Given the description of an element on the screen output the (x, y) to click on. 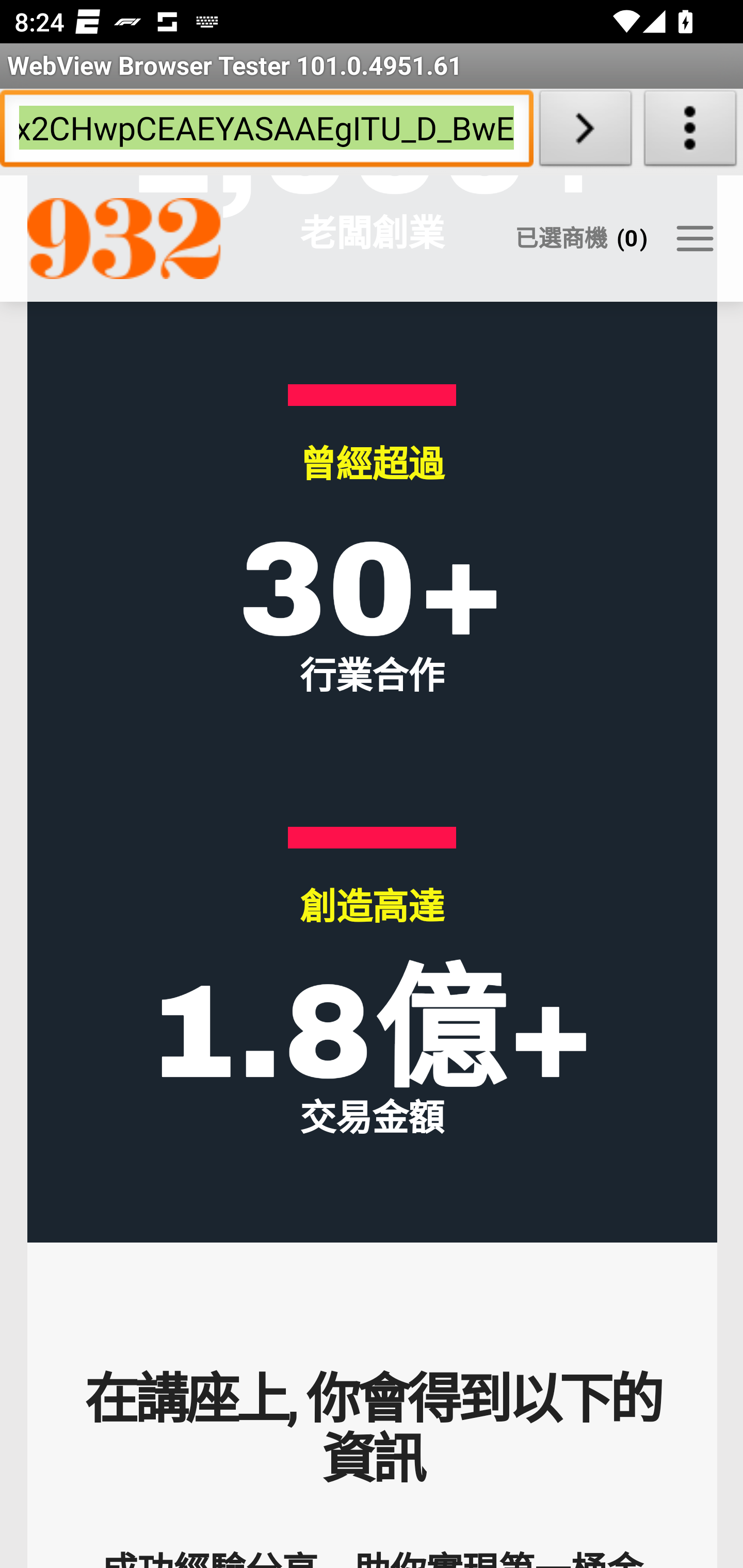
Load URL (585, 132)
About WebView (690, 132)
